Given the description of an element on the screen output the (x, y) to click on. 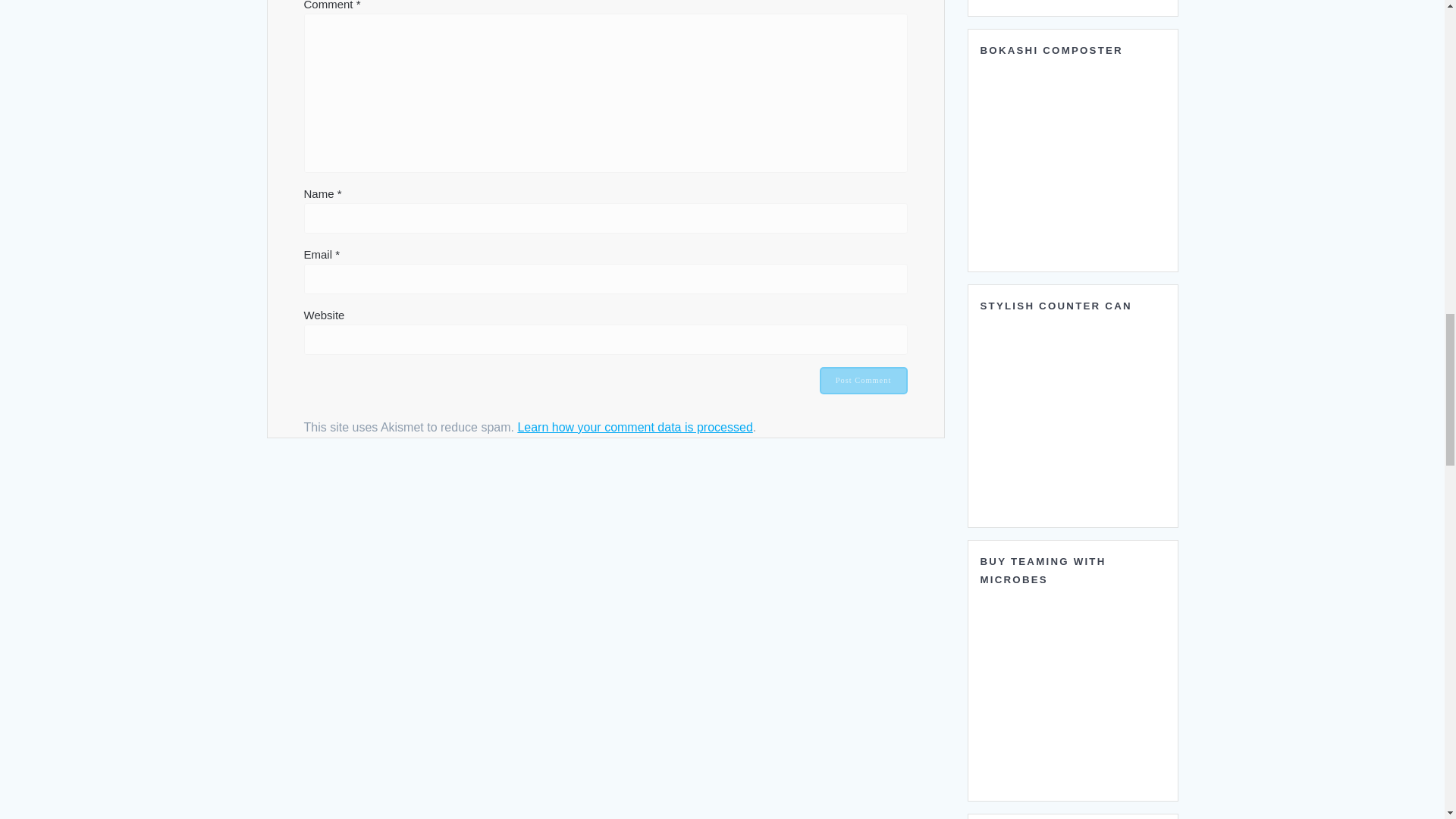
Learn how your comment data is processed (634, 427)
Post Comment (863, 379)
Post Comment (863, 379)
